Given the description of an element on the screen output the (x, y) to click on. 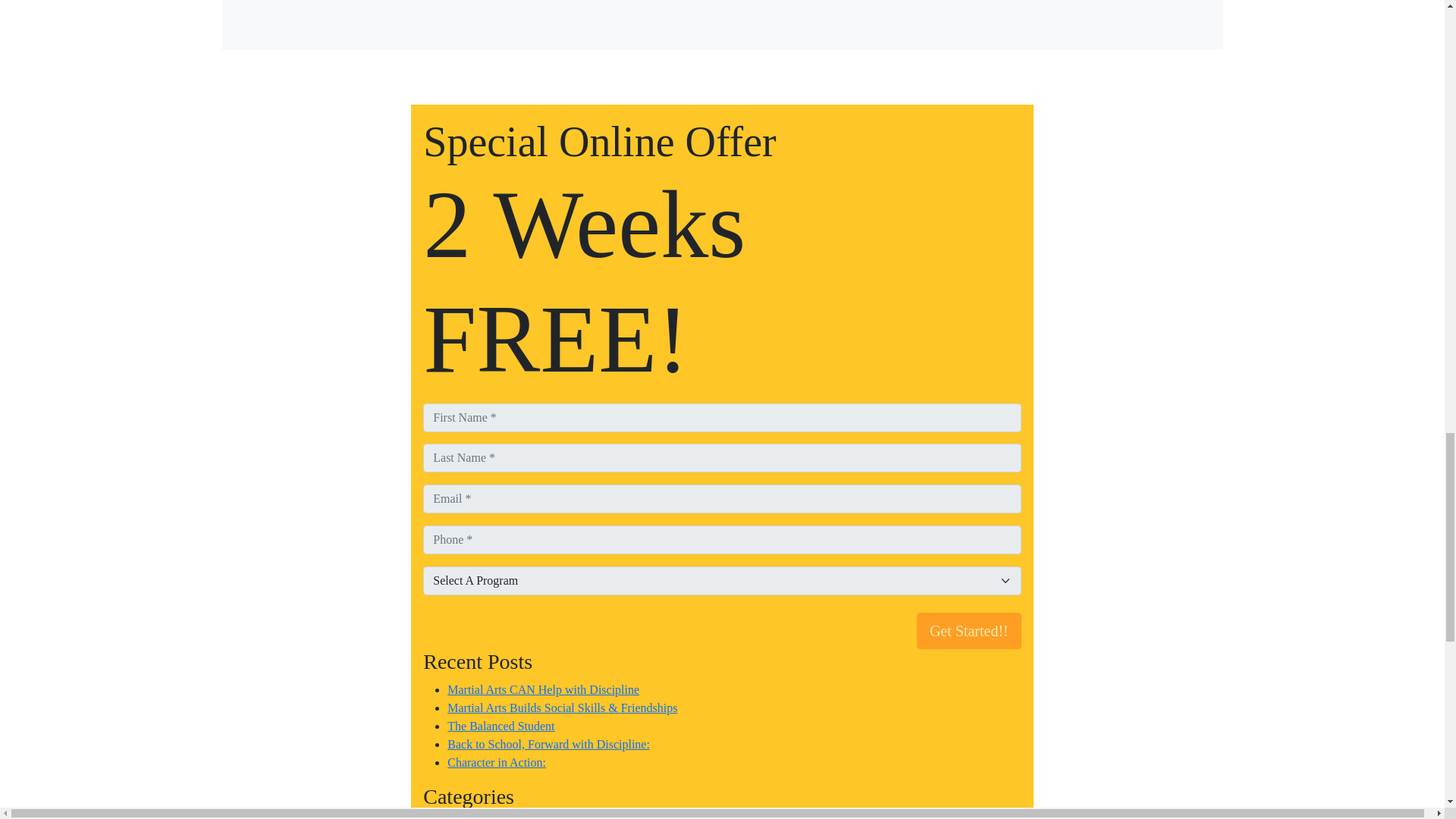
Get Started!! (969, 630)
Character in Action: (496, 762)
Get Started!! (969, 630)
Back to School, Forward with Discipline: (547, 744)
The Balanced Student (500, 725)
Martial Arts CAN Help with Discipline (542, 689)
